Given the description of an element on the screen output the (x, y) to click on. 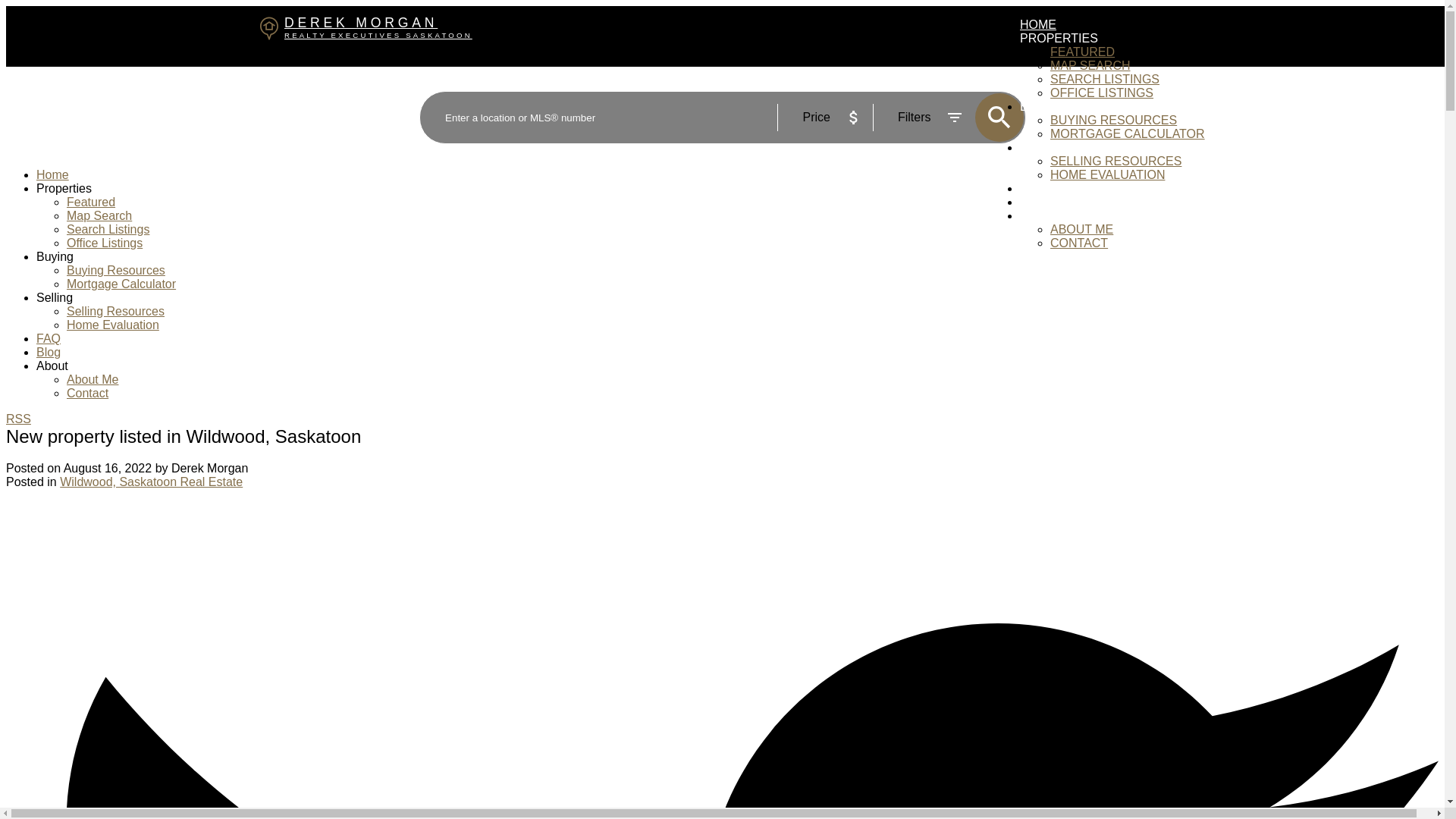
FAQ (48, 338)
HOME (1038, 24)
About Me (91, 379)
RSS (17, 418)
Wildwood, Saskatoon Real Estate (151, 481)
FEATURED (1082, 51)
BUYING RESOURCES (1112, 119)
SELLING RESOURCES (1114, 160)
CONTACT (1078, 242)
Mortgage Calculator (121, 283)
Office Listings (104, 242)
Selling Resources (115, 310)
BLOG (1036, 201)
FAQ (1031, 187)
Featured (90, 201)
